Given the description of an element on the screen output the (x, y) to click on. 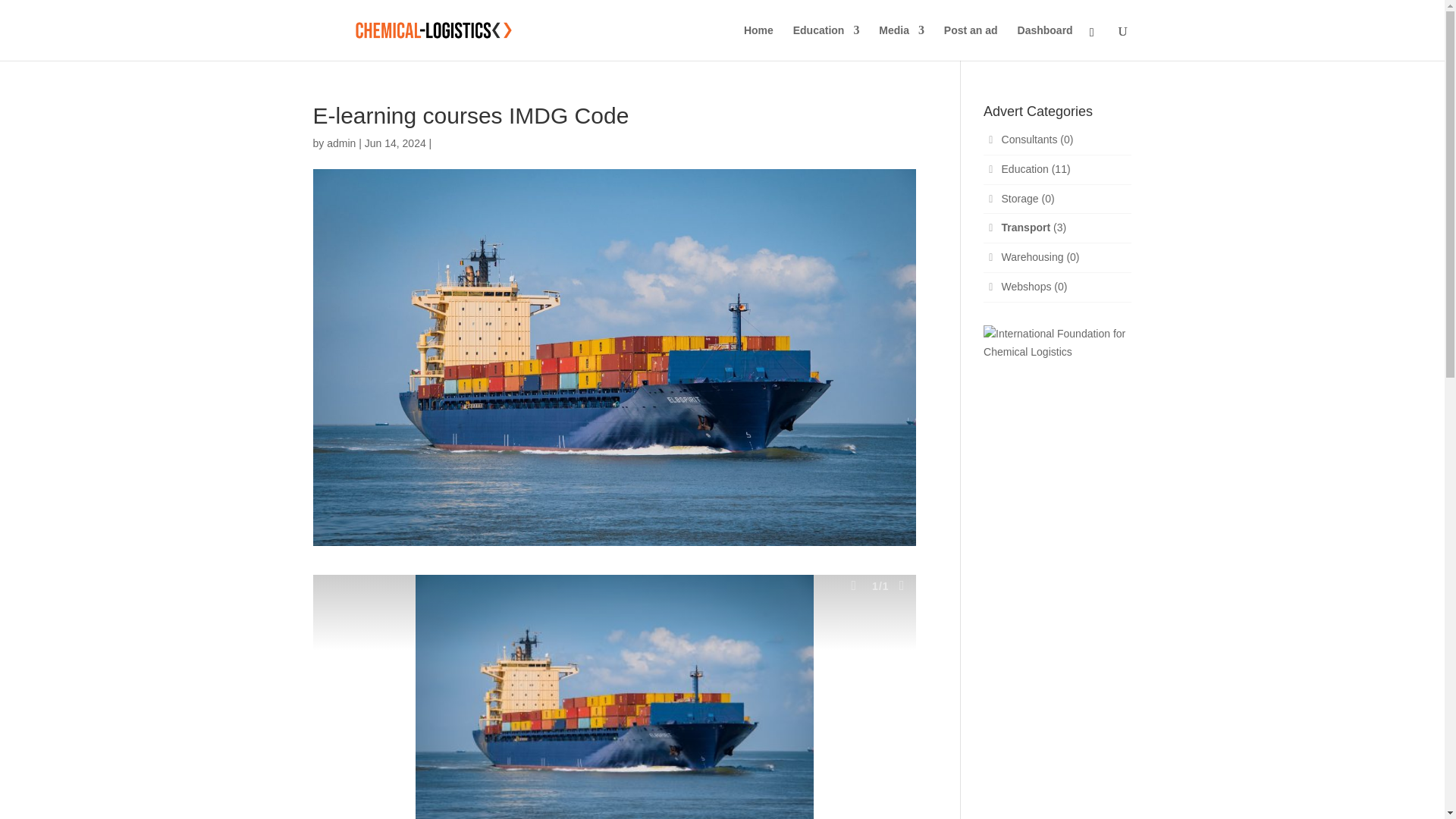
Show Thumbnails ... (853, 585)
Total Files (901, 585)
Dashboard (1045, 42)
Post an ad (970, 42)
Education (826, 42)
Posts by admin (340, 143)
Media (901, 42)
